Given the description of an element on the screen output the (x, y) to click on. 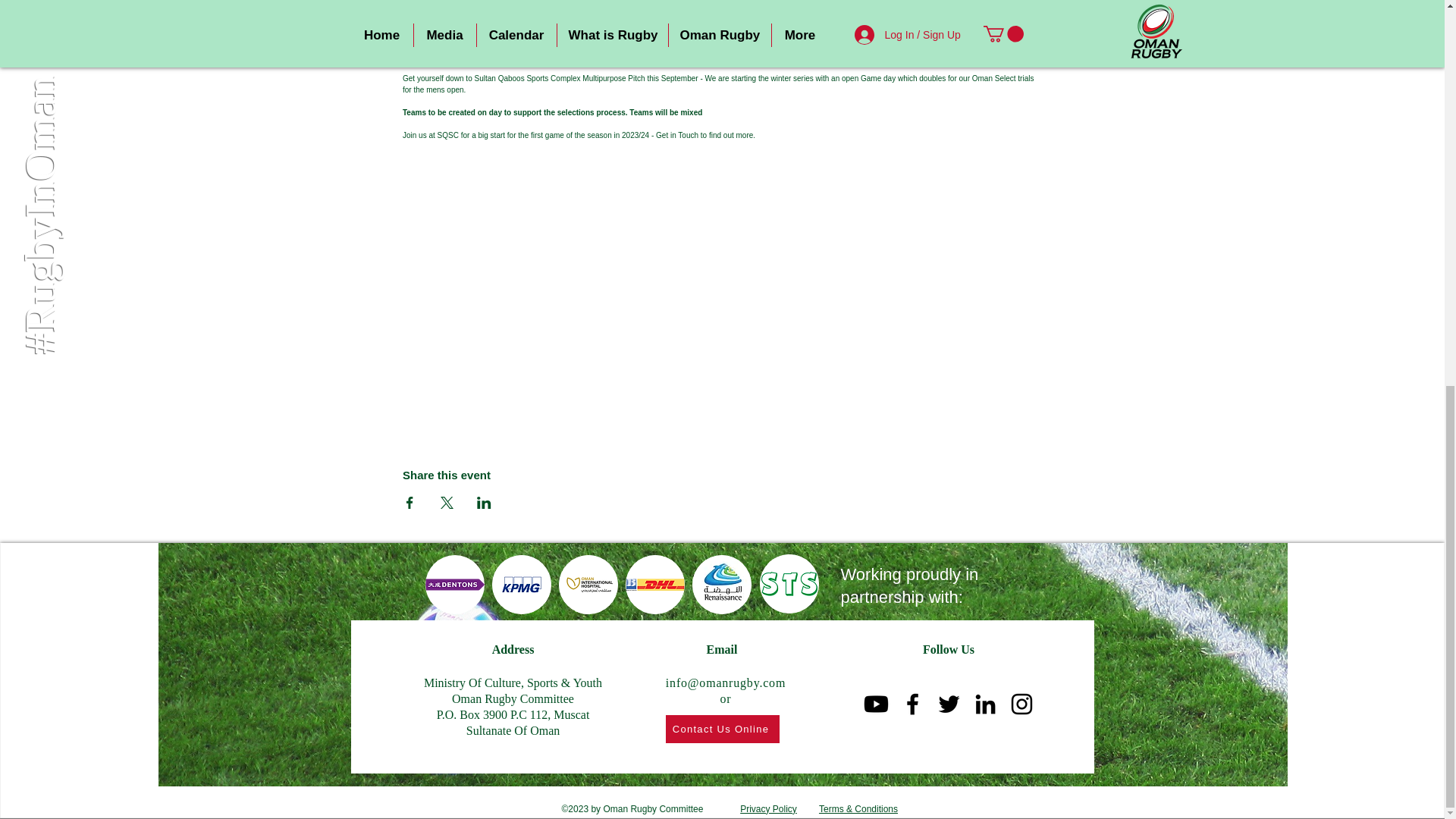
Privacy Policy (767, 808)
Contact Us Online (721, 728)
